Given the description of an element on the screen output the (x, y) to click on. 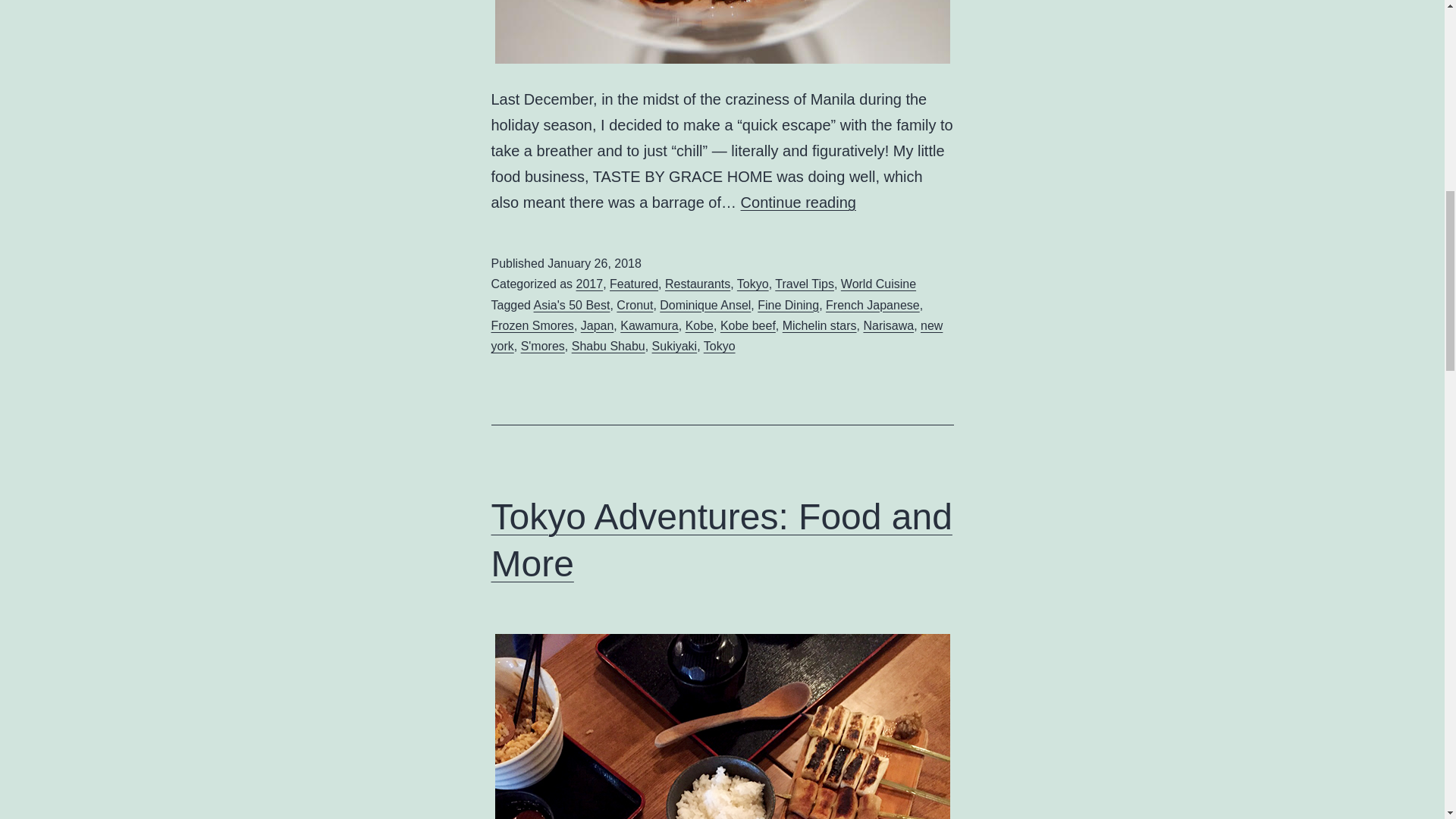
Fine Dining (787, 305)
French Japanese (872, 305)
Featured (634, 283)
Restaurants (697, 283)
new york (717, 335)
Shabu Shabu (608, 345)
S'mores (542, 345)
Tokyo Adventures: Food and More (722, 539)
Japan (597, 325)
Sukiyaki (674, 345)
Tokyo (752, 283)
Kawamura (649, 325)
Dominique Ansel (705, 305)
Cronut (633, 305)
Travel Tips (804, 283)
